Given the description of an element on the screen output the (x, y) to click on. 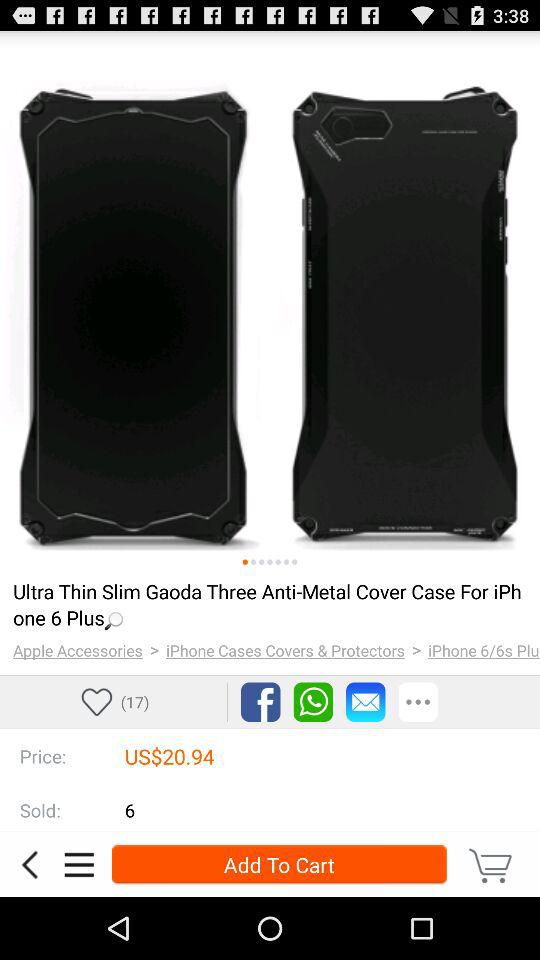
turn on app next to the > (77, 650)
